Given the description of an element on the screen output the (x, y) to click on. 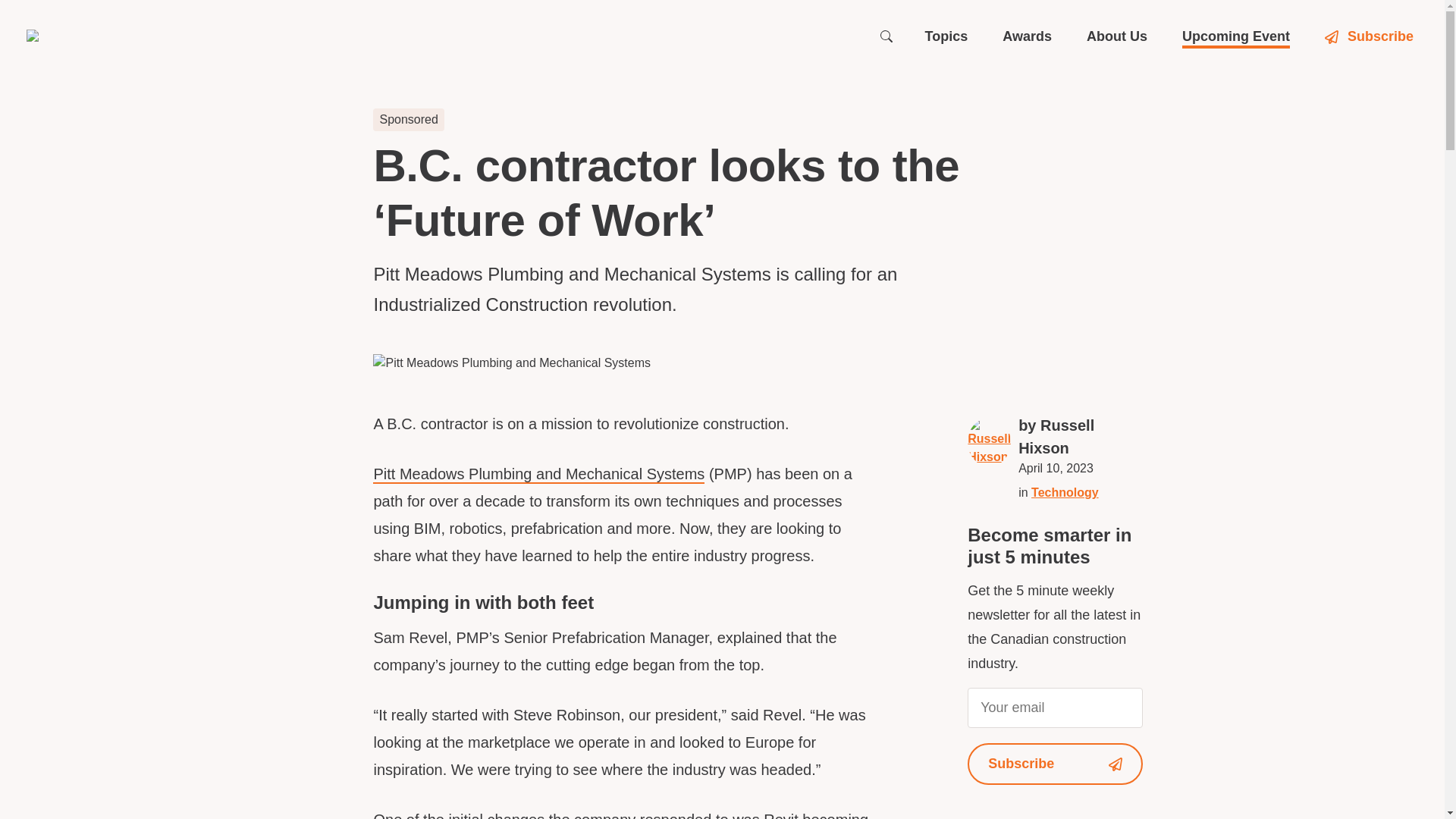
Sponsored (408, 119)
Awards (1026, 36)
Subscribe (1371, 36)
Technology (1064, 492)
Subscribe (1055, 763)
About Us (1116, 36)
by Russell Hixson (1079, 436)
Pitt Meadows Plumbing and Mechanical Systems (538, 475)
Topics (946, 36)
Upcoming Event (1235, 36)
